Given the description of an element on the screen output the (x, y) to click on. 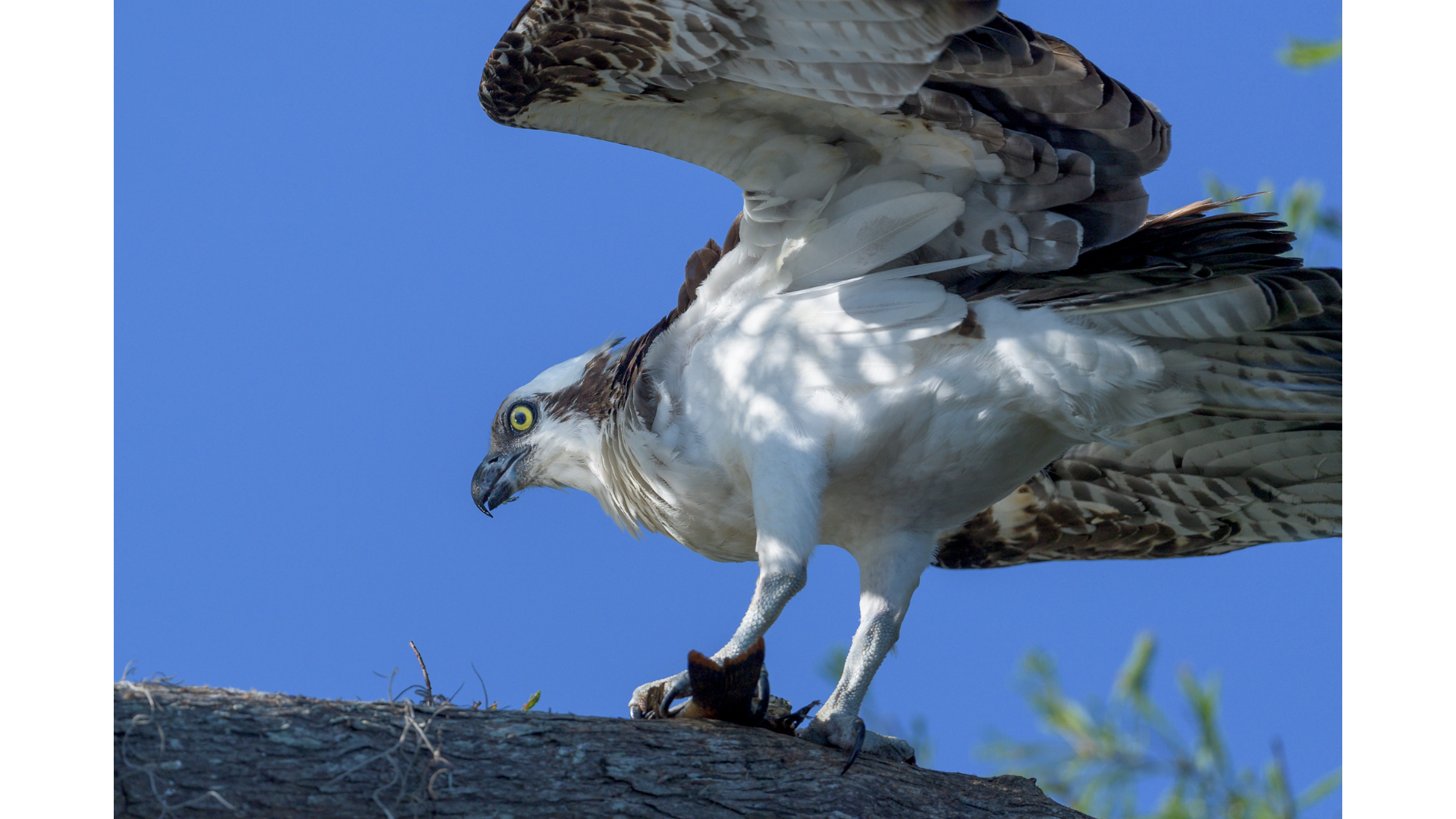
BROWSE Element type: text (723, 70)
1ST451 PHOTOGRAPHY Element type: text (727, 117)
Search "Vero Beach Trip" for photos Element type: hover (1380, 22)
2021 Element type: text (57, 178)
Slideshow Element type: hover (1419, 545)
HOME Element type: text (668, 70)
SmugMug Element type: hover (59, 22)
SEARCH Element type: text (782, 70)
